Given the description of an element on the screen output the (x, y) to click on. 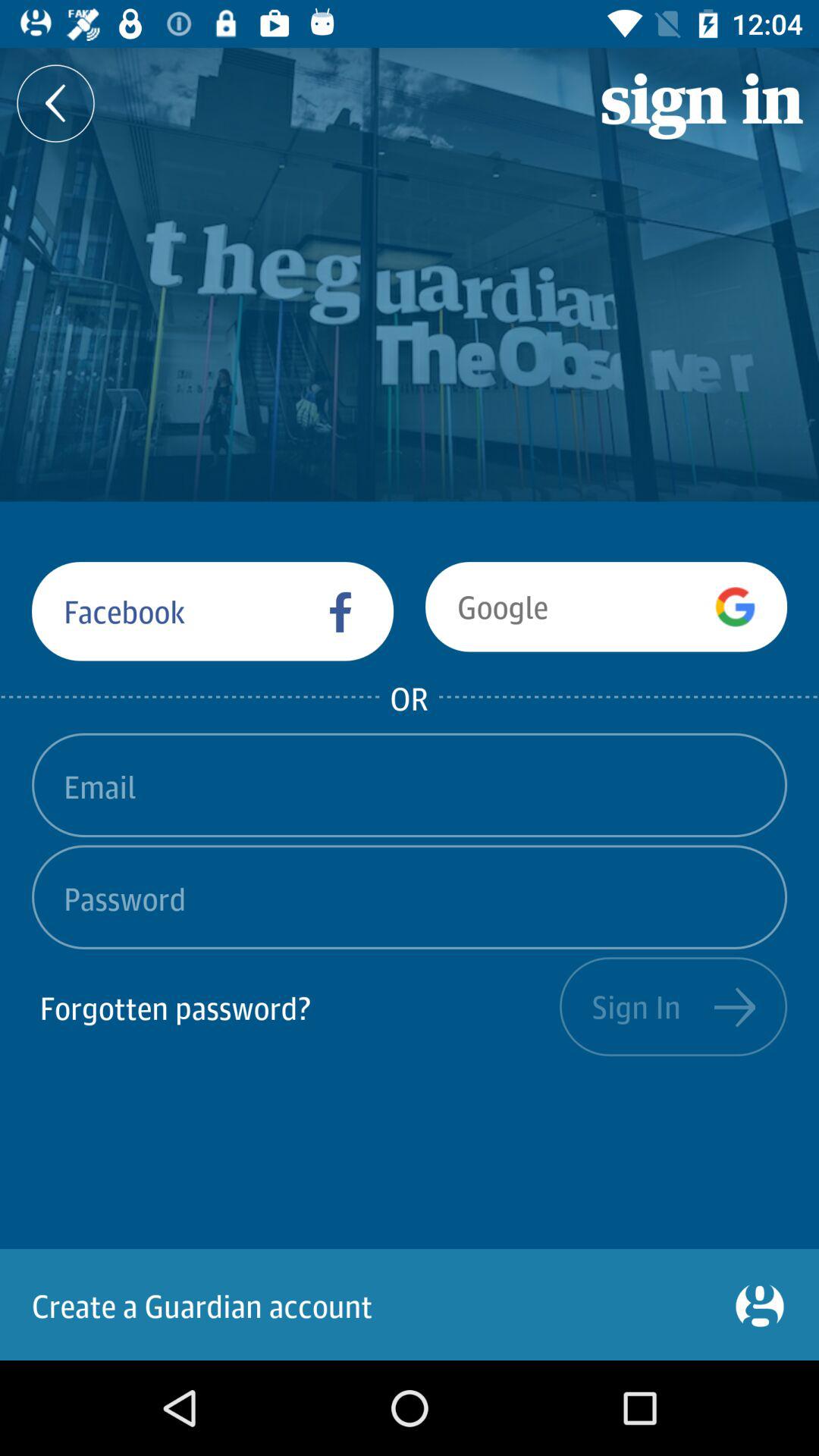
go back (55, 103)
